Given the description of an element on the screen output the (x, y) to click on. 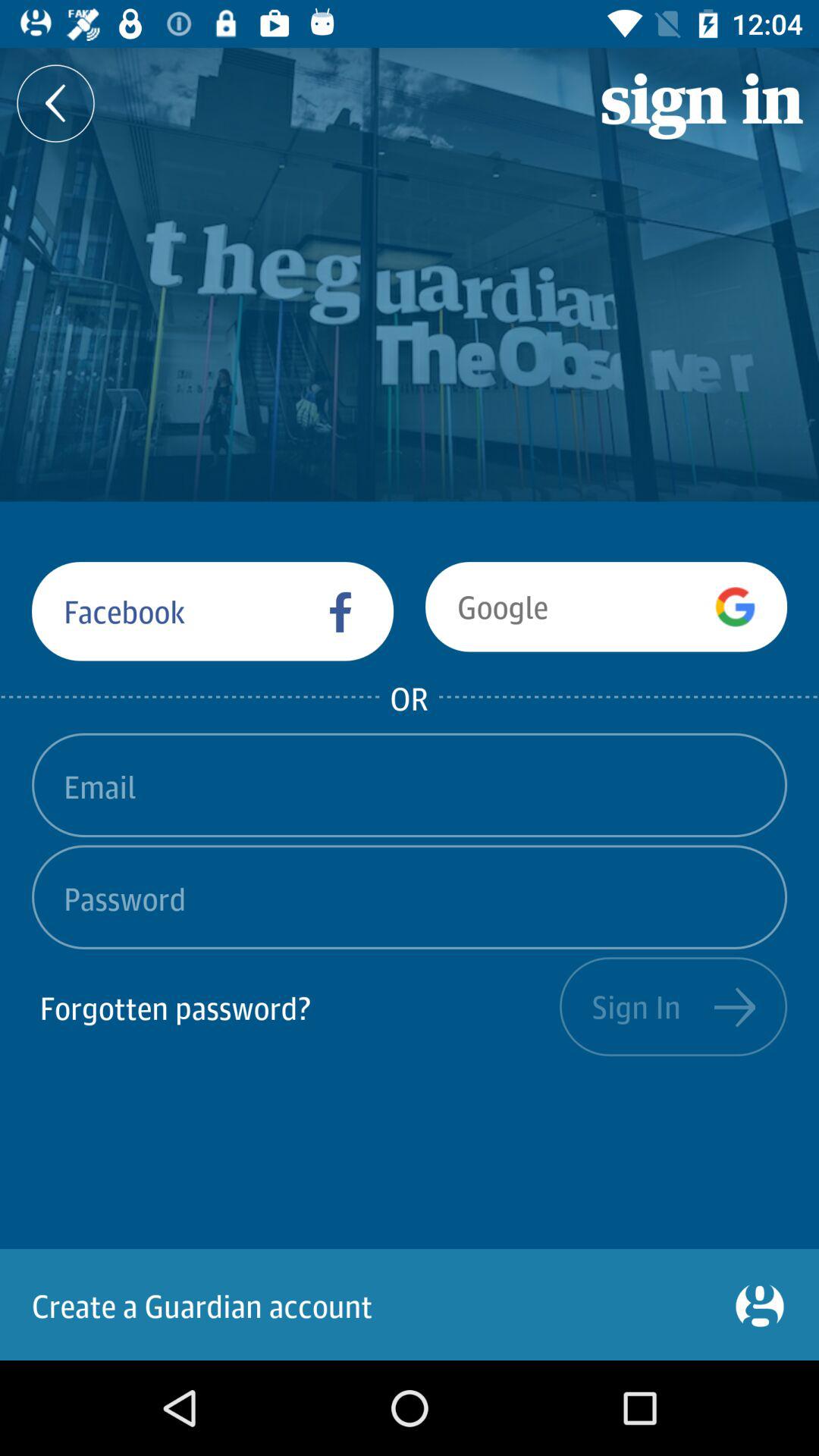
go back (55, 103)
